Given the description of an element on the screen output the (x, y) to click on. 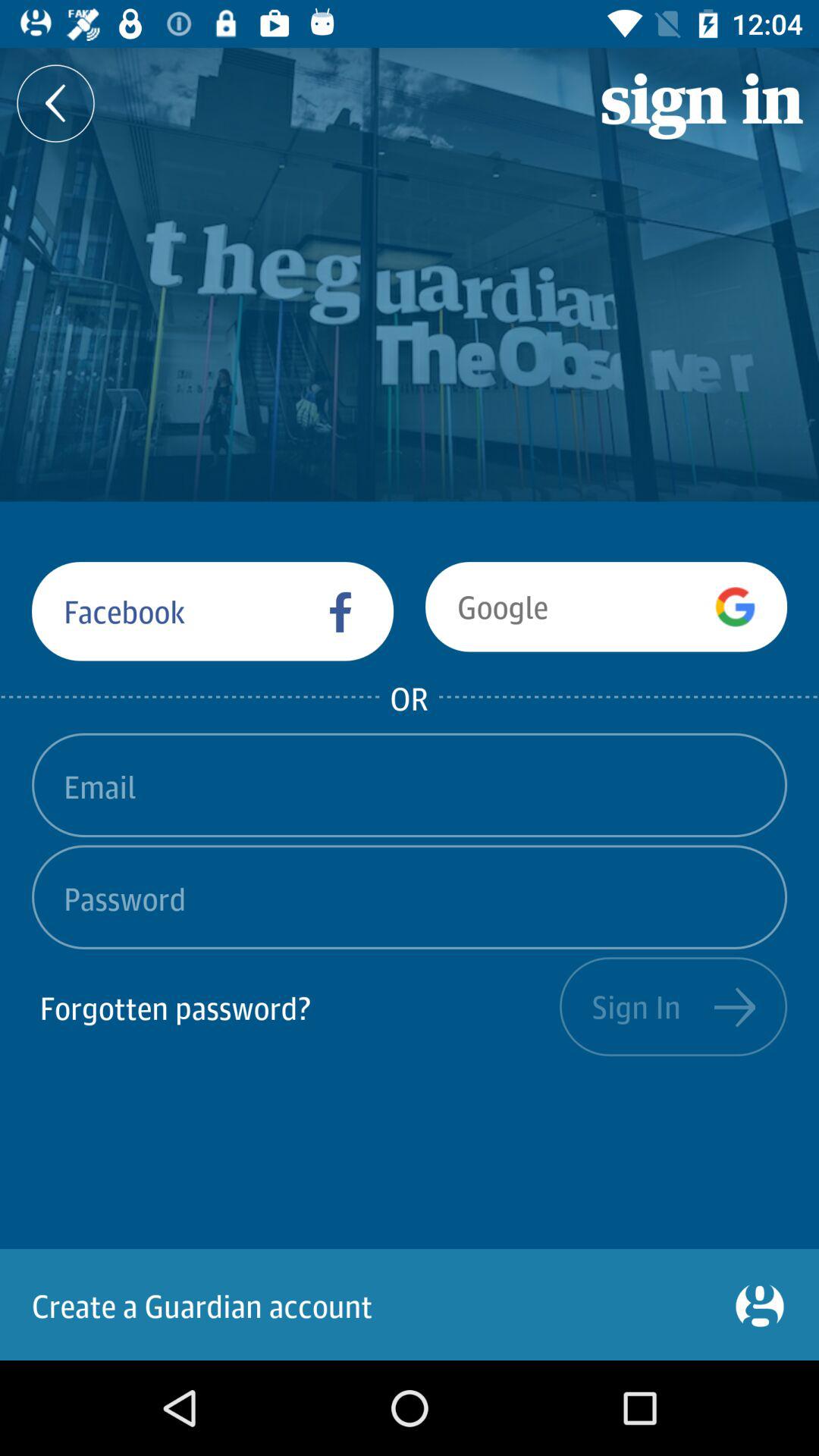
go back (55, 103)
